Given the description of an element on the screen output the (x, y) to click on. 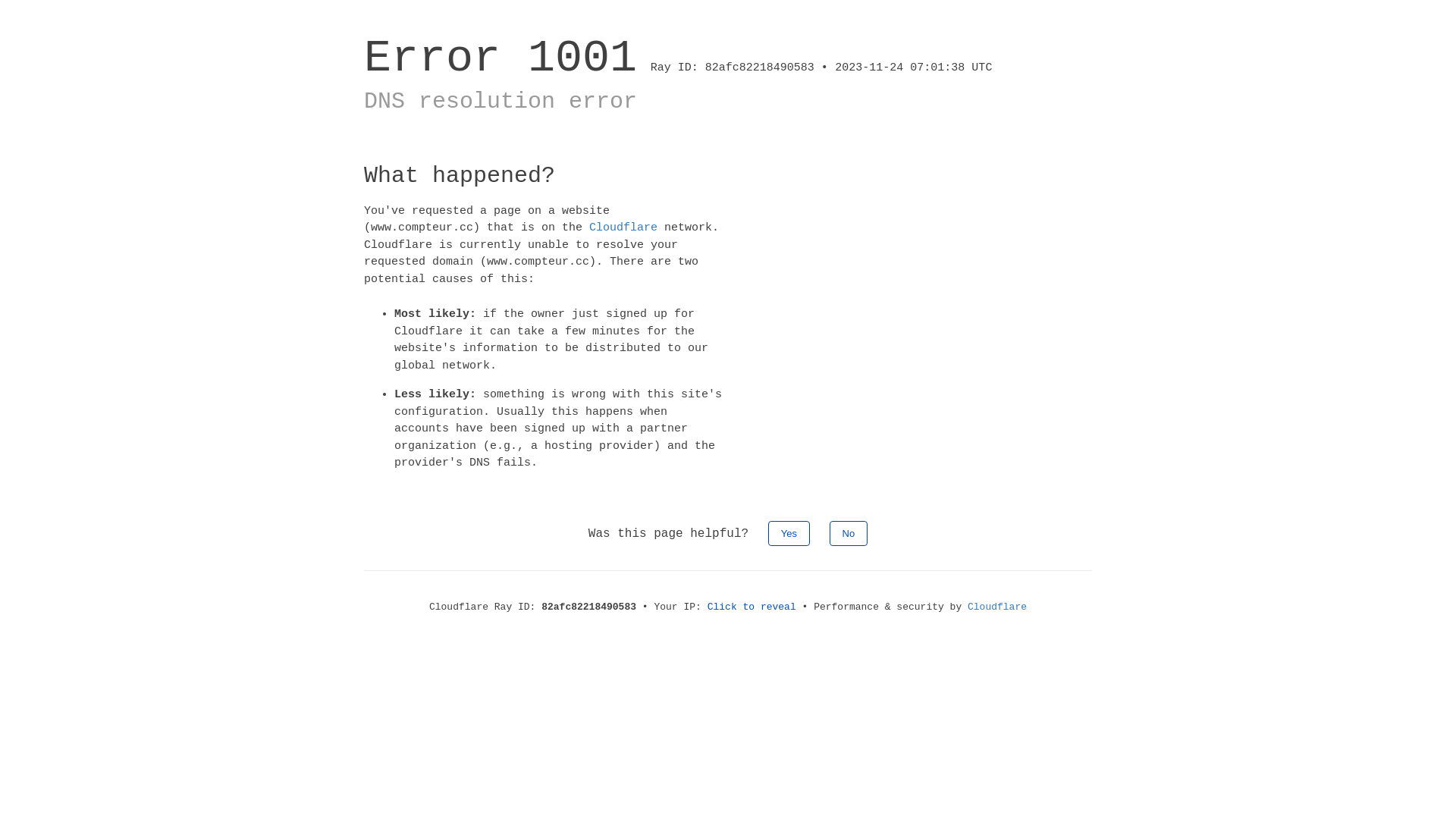
No Element type: text (848, 532)
Yes Element type: text (788, 532)
Click to reveal Element type: text (751, 605)
Cloudflare Element type: text (623, 227)
Cloudflare Element type: text (996, 605)
